Given the description of an element on the screen output the (x, y) to click on. 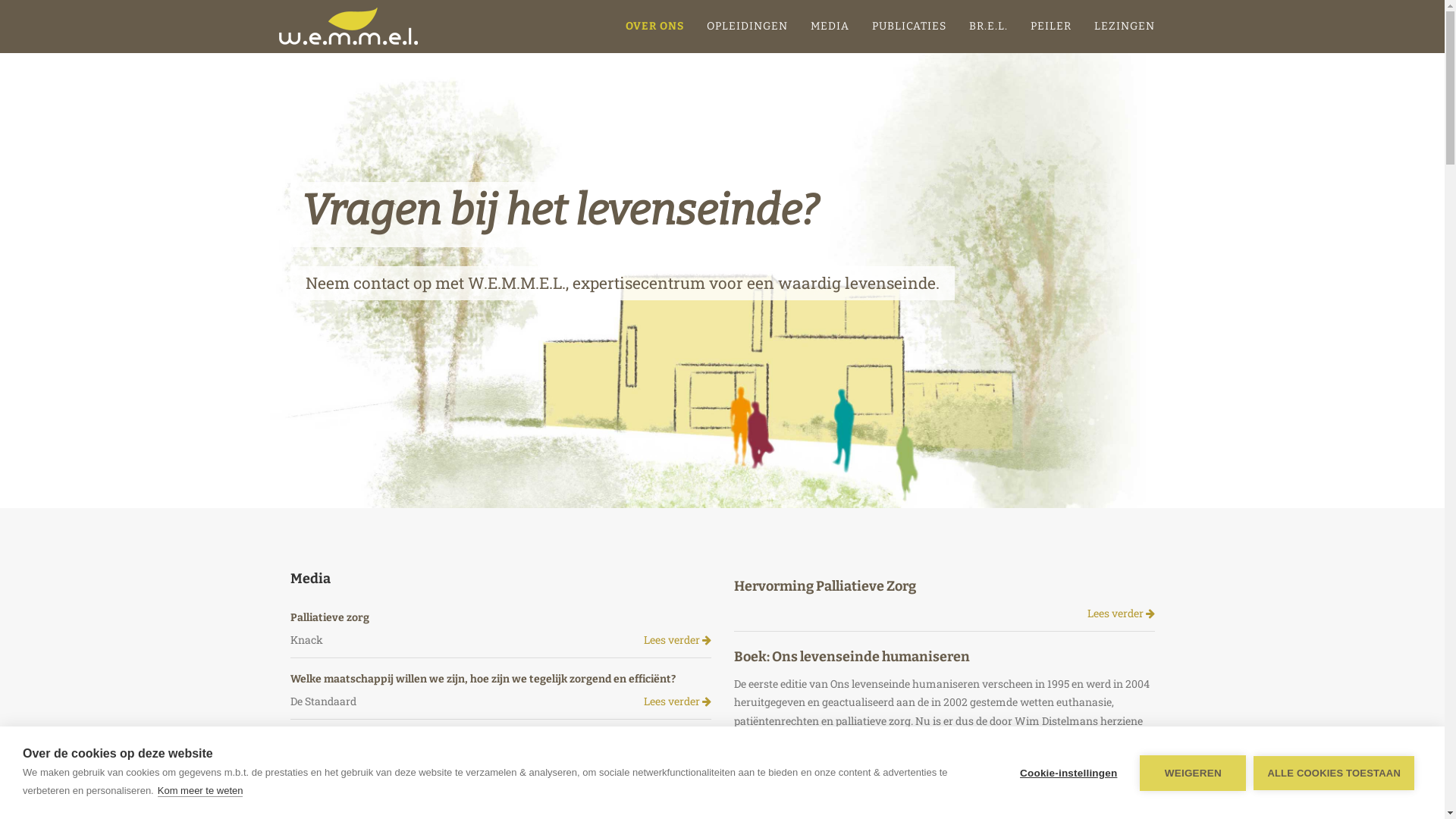
OPLEIDINGEN Element type: text (746, 26)
OVER ONS Element type: text (654, 26)
Lees verder Element type: text (1120, 765)
Lees verder Element type: text (1120, 613)
Cookie-instellingen Element type: text (1068, 772)
Hervorming Palliatieve Zorg Element type: text (825, 585)
Kom meer te weten Element type: text (200, 790)
Boek: Ons levenseinde humaniseren Element type: text (851, 655)
LEZINGEN Element type: text (1124, 26)
Lees verder Element type: text (676, 639)
ALLE COOKIES TOESTAAN Element type: text (1333, 772)
Lees verder Element type: text (676, 774)
Palliatieve zorg Element type: text (328, 617)
BR.E.L. Element type: text (987, 26)
PEILER Element type: text (1050, 26)
Lees verder Element type: text (676, 701)
MEDIA Element type: text (829, 26)
PUBLICATIES Element type: text (908, 26)
WEIGEREN Element type: text (1192, 772)
